Given the description of an element on the screen output the (x, y) to click on. 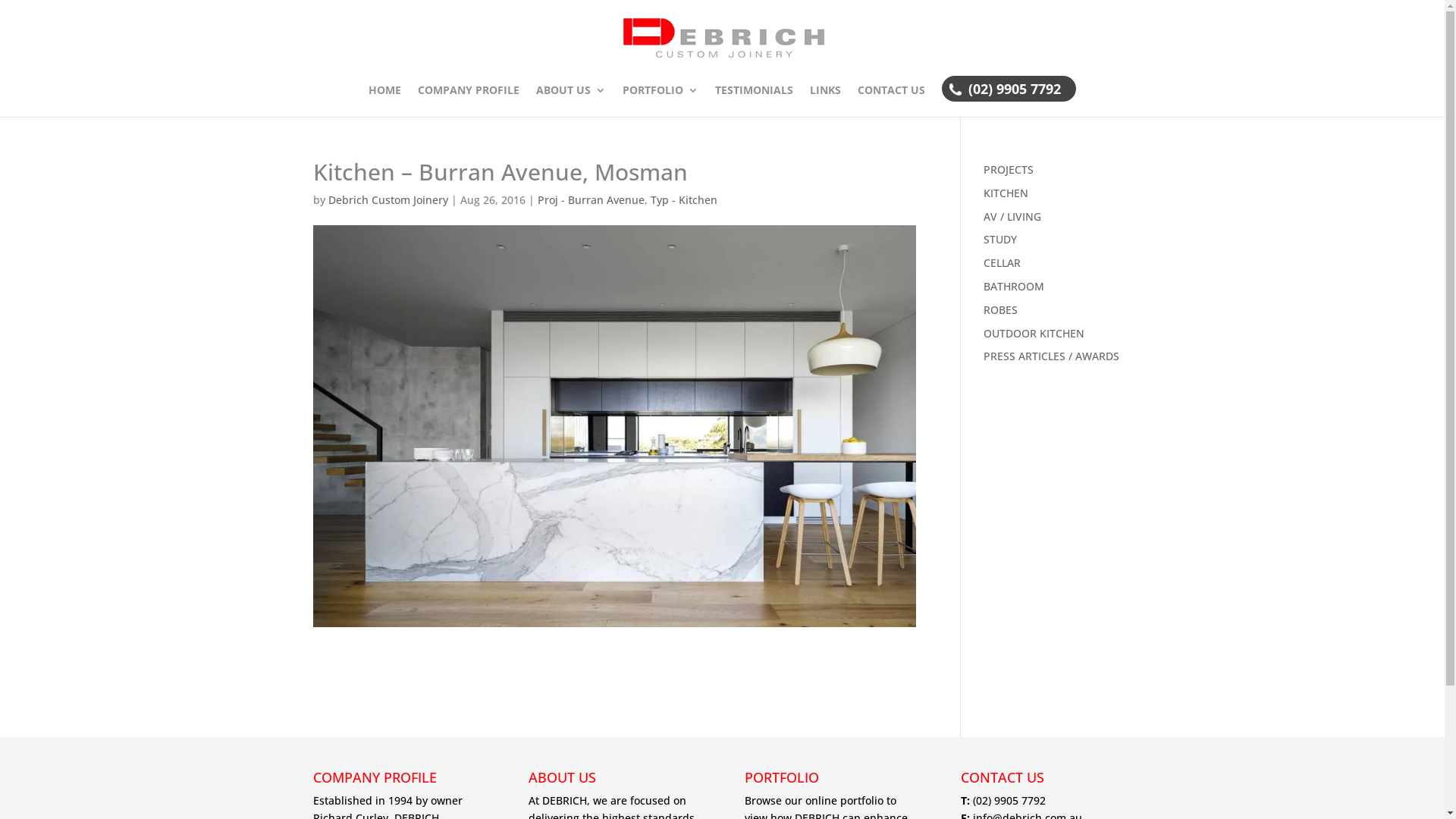
OUTDOOR KITCHEN Element type: text (1033, 333)
ROBES Element type: text (1000, 309)
COMPANY PROFILE Element type: text (468, 100)
KITCHEN Element type: text (1005, 192)
CELLAR Element type: text (1001, 262)
BATHROOM Element type: text (1013, 286)
Debrich Custom Joinery Element type: text (387, 199)
PORTFOLIO Element type: text (660, 100)
Typ - Kitchen Element type: text (683, 199)
STUDY Element type: text (999, 239)
PRESS ARTICLES / AWARDS Element type: text (1051, 355)
HOME Element type: text (384, 100)
ABOUT US Element type: text (570, 100)
AV / LIVING Element type: text (1012, 216)
(02) 9905 7792 Element type: text (1008, 800)
TESTIMONIALS Element type: text (754, 100)
PROJECTS Element type: text (1008, 169)
Proj - Burran Avenue Element type: text (589, 199)
(02) 9905 7792 Element type: text (1014, 102)
LINKS Element type: text (824, 100)
CONTACT US Element type: text (891, 100)
